Given the description of an element on the screen output the (x, y) to click on. 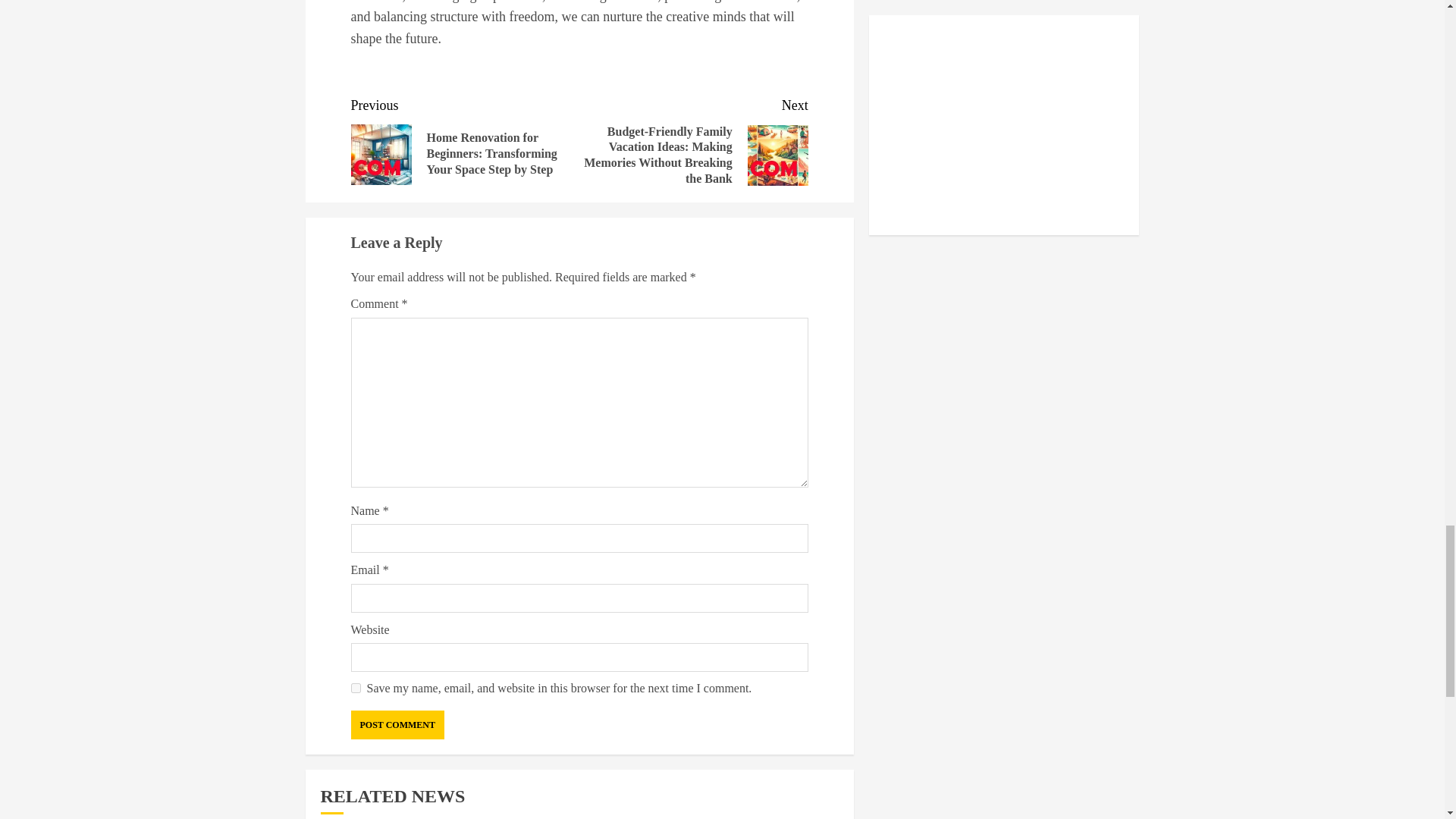
Post Comment (397, 724)
yes (354, 687)
Post Comment (397, 724)
